Given the description of an element on the screen output the (x, y) to click on. 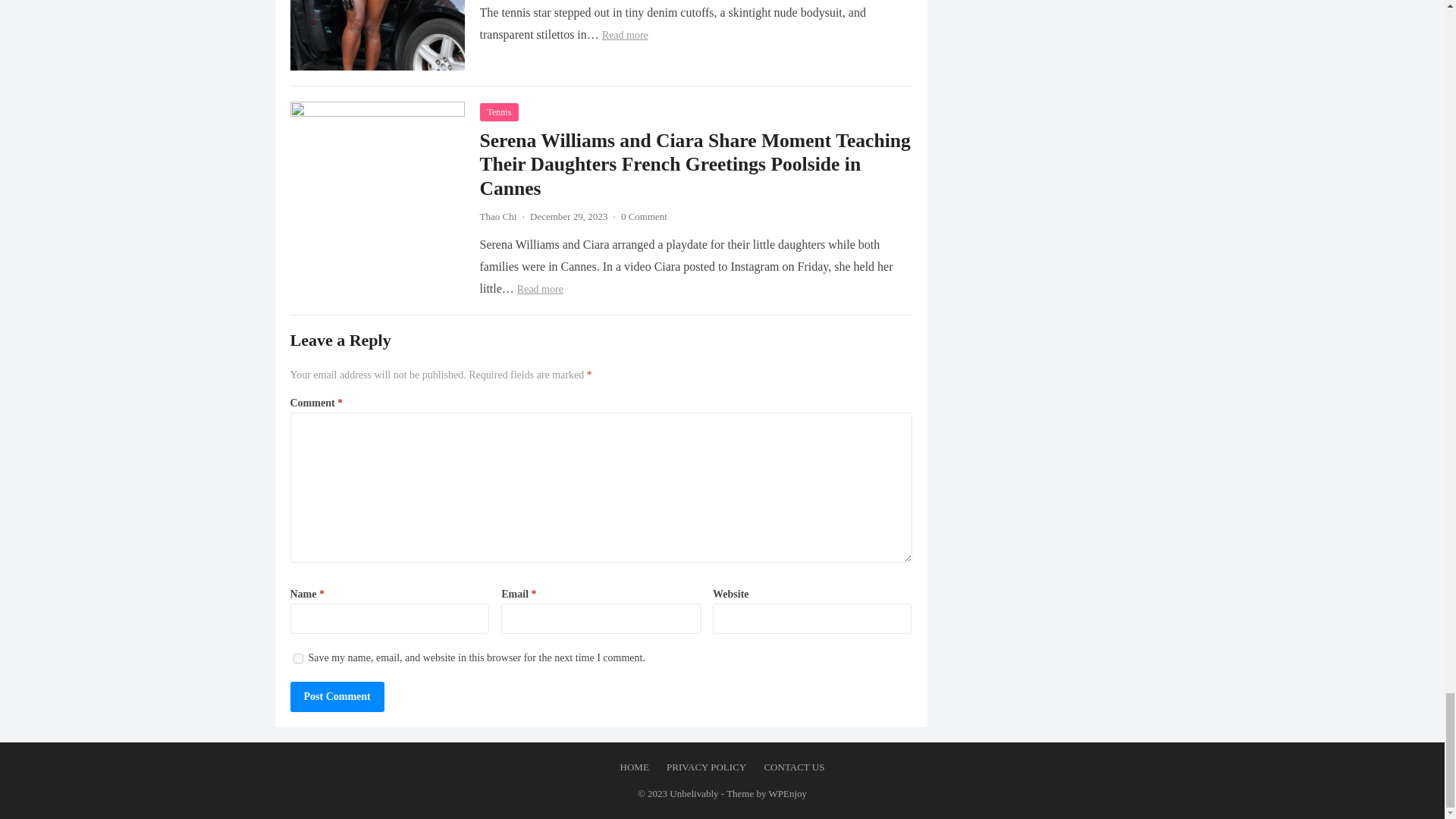
Posts by Thao Chi (497, 215)
Post Comment (336, 696)
yes (297, 658)
